Given the description of an element on the screen output the (x, y) to click on. 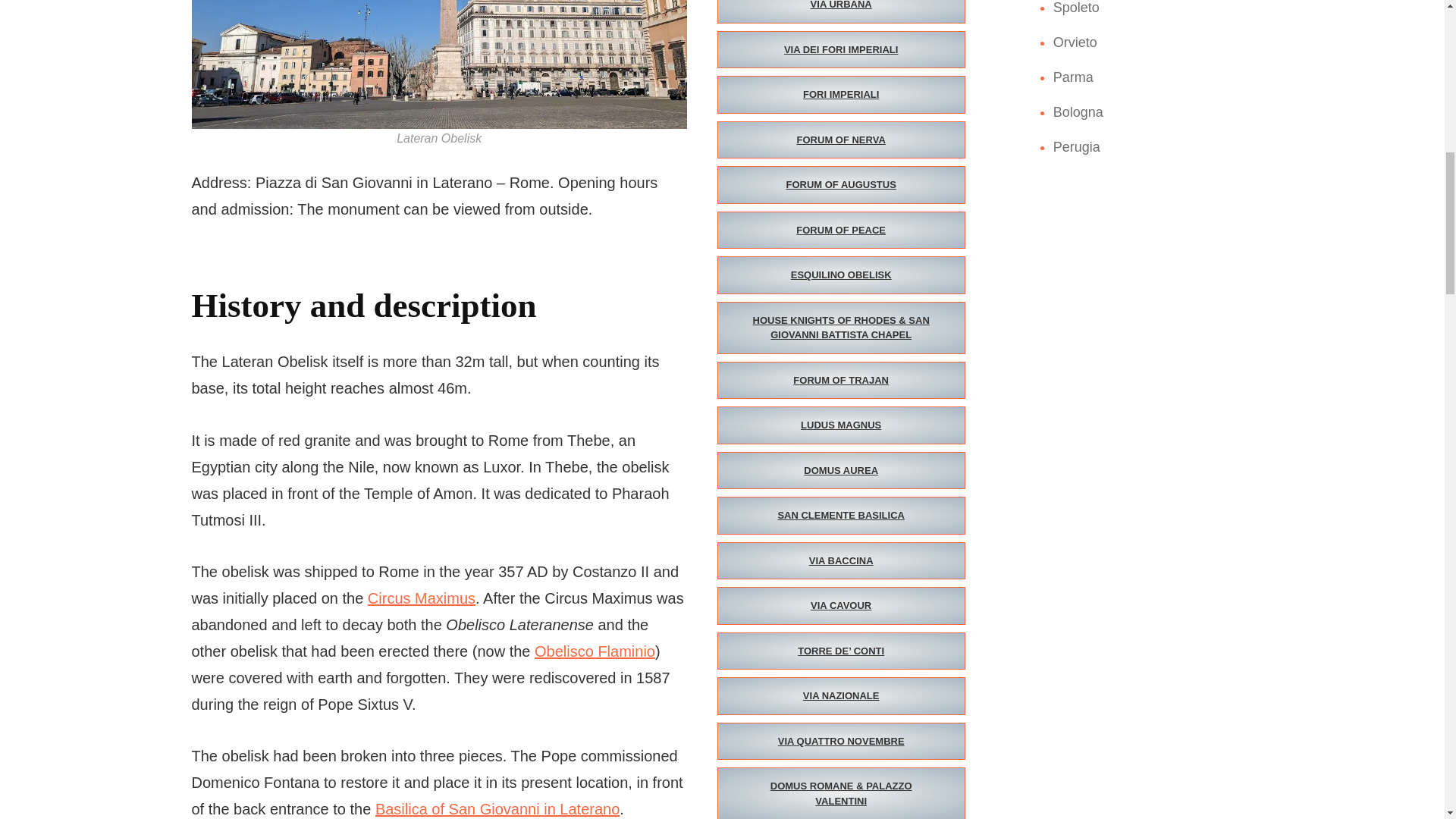
n Giovanni in Laterano (543, 808)
VIA DEI FORI IMPERIALI (841, 49)
FORUM OF AUGUSTUS (841, 184)
Circus Maximus (422, 597)
VIA URBANA (841, 11)
FORUM OF PEACE (841, 230)
Basilica of Sa (421, 808)
Obelisco Flaminio (594, 651)
FORI IMPERIALI (841, 94)
FORUM OF NERVA (841, 139)
